Given the description of an element on the screen output the (x, y) to click on. 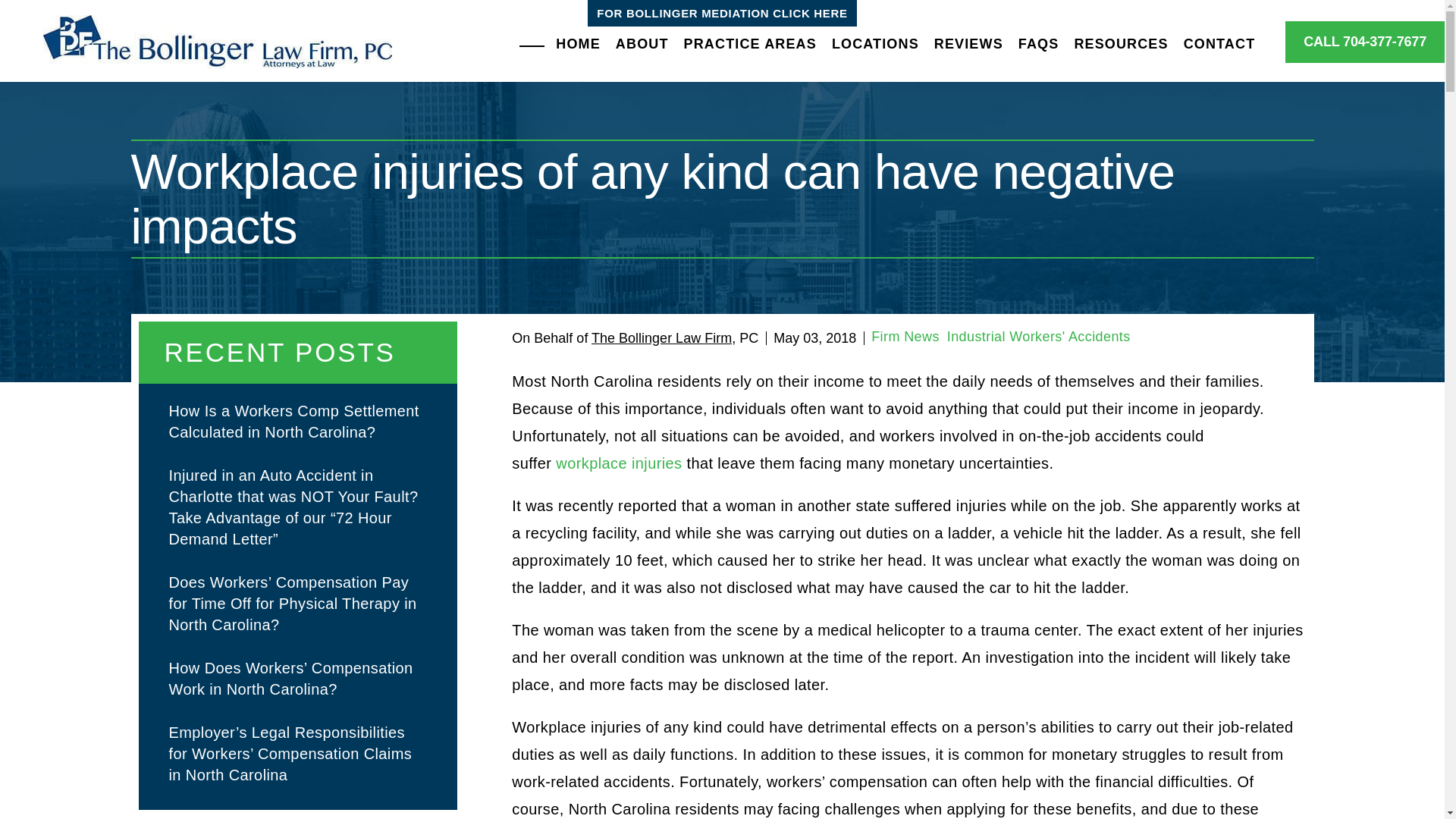
HOME (578, 43)
PRACTICE AREAS (750, 43)
LOCATIONS (875, 43)
CONTACT (1219, 43)
FAQS (1038, 43)
REVIEWS (968, 43)
RESOURCES (1119, 43)
ABOUT (642, 43)
